Given the description of an element on the screen output the (x, y) to click on. 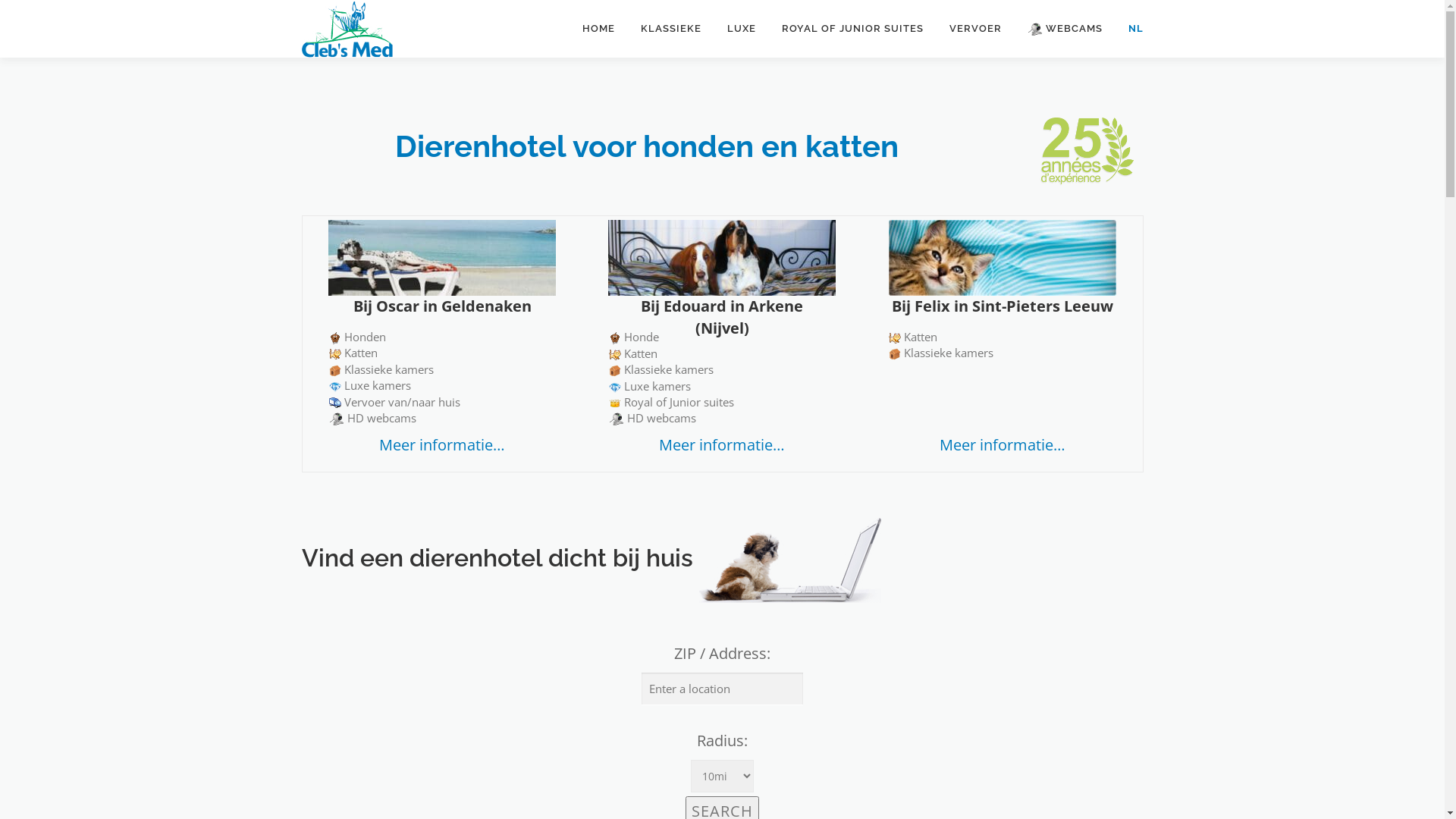
NL Element type: text (1128, 28)
WEBCAMS Element type: text (1064, 28)
KLASSIEKE Element type: text (670, 28)
VERVOER Element type: text (974, 28)
HOME Element type: text (597, 28)
LUXE Element type: text (741, 28)
ROYAL OF JUNIOR SUITES Element type: text (852, 28)
